Given the description of an element on the screen output the (x, y) to click on. 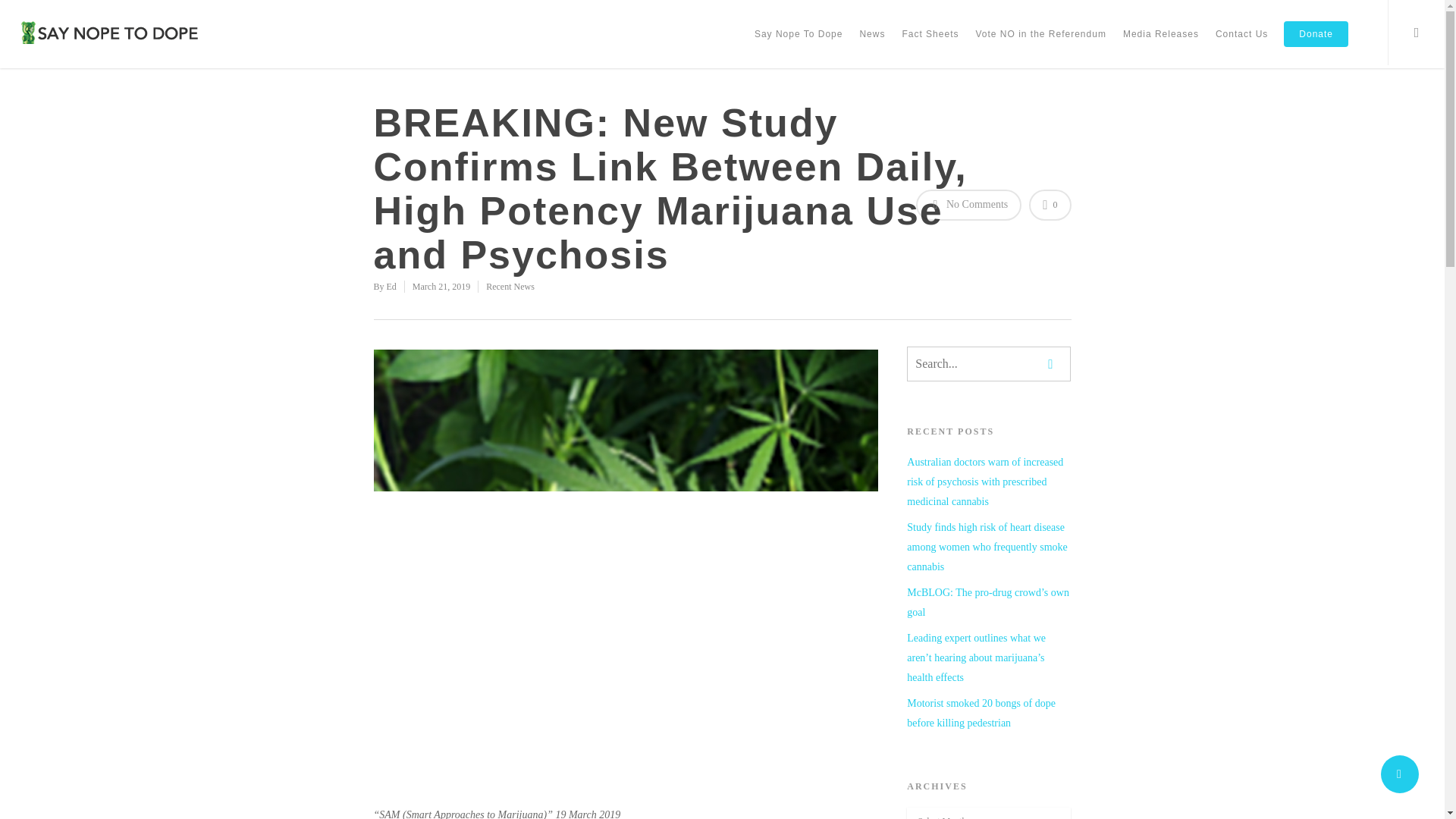
Motorist smoked 20 bongs of dope before killing pedestrian (988, 713)
Say Nope To Dope (798, 44)
Media Releases (1161, 44)
Contact Us (1241, 44)
Donate (1316, 44)
0 (1049, 204)
Fact Sheets (929, 44)
Recent News (510, 286)
